Given the description of an element on the screen output the (x, y) to click on. 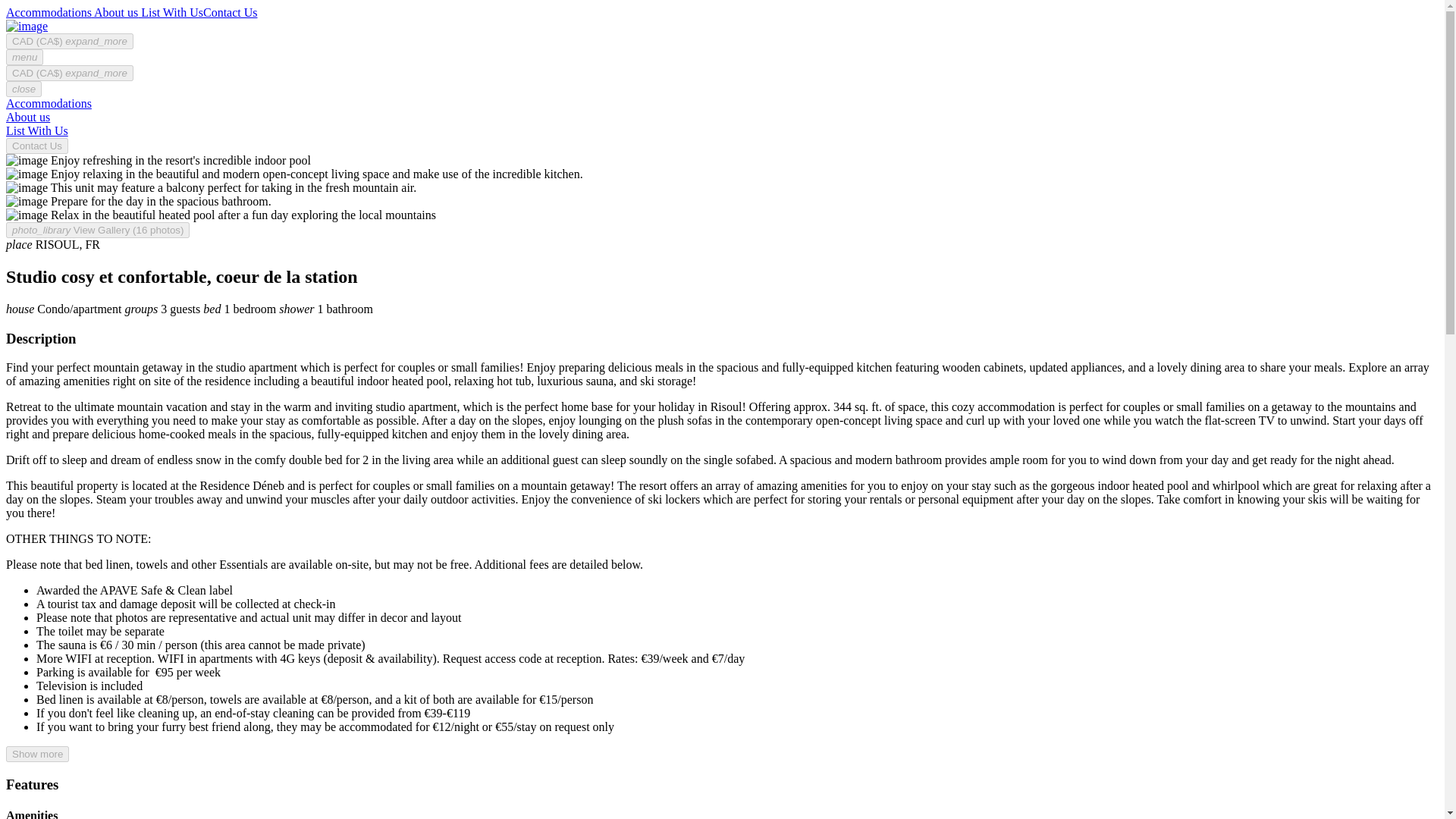
List With Us (36, 130)
Accommodations (48, 103)
About us (114, 11)
Contact Us (230, 11)
About us (27, 116)
Contact Us (36, 145)
List With Us (170, 11)
Show more (36, 754)
close (23, 89)
menu (24, 57)
Contact Us (36, 144)
Accommodations (48, 11)
